Given the description of an element on the screen output the (x, y) to click on. 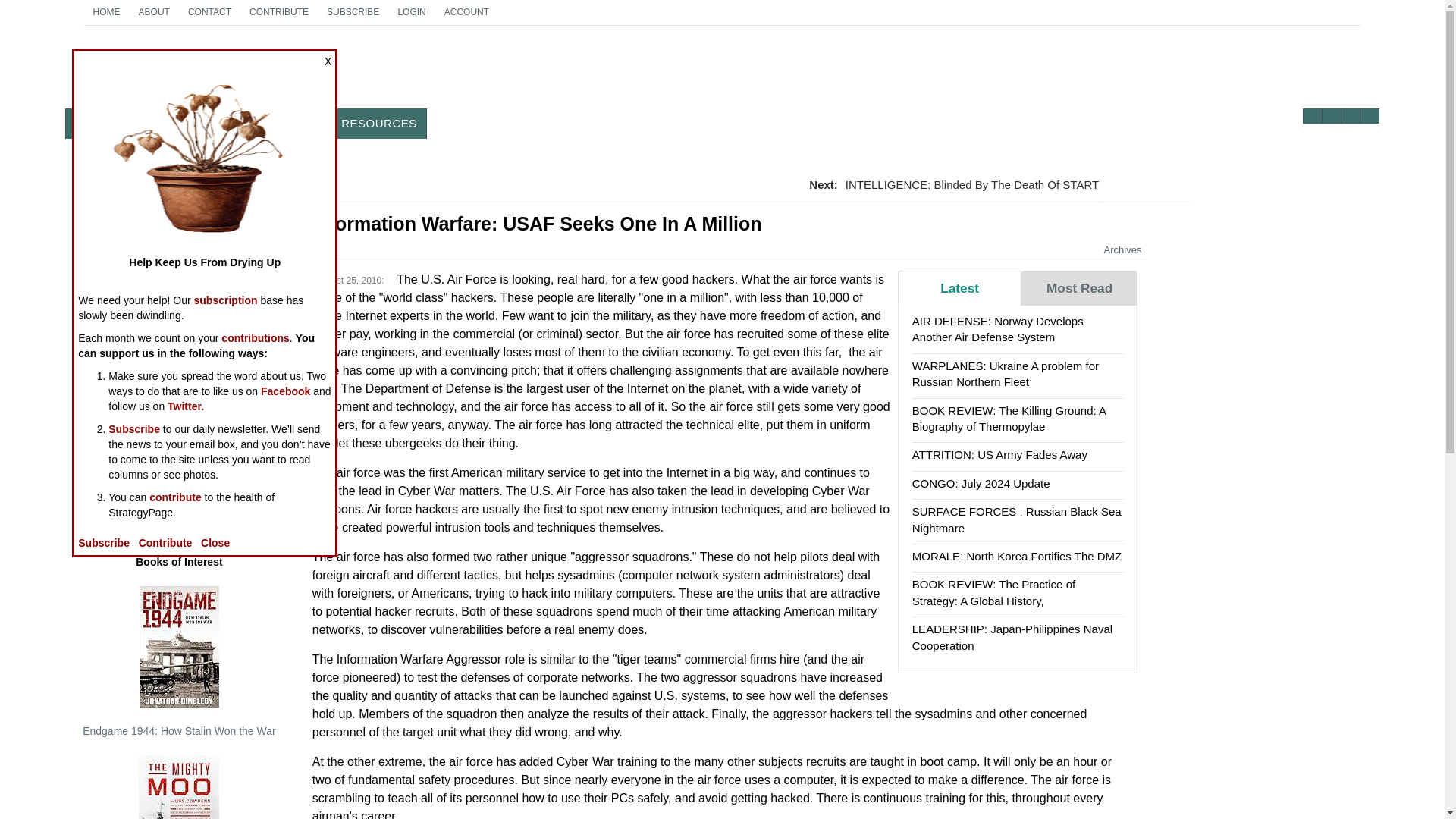
RESOURCES (378, 123)
CONTRIBUTE (278, 12)
ACCOUNT (466, 12)
CONTACT (209, 12)
FEATURES (161, 123)
LOGIN (410, 12)
NEWS (92, 123)
ABOUT (154, 12)
SUBSCRIBE (352, 12)
PHOTOS (236, 123)
OTHER (300, 123)
HOME (106, 12)
